Given the description of an element on the screen output the (x, y) to click on. 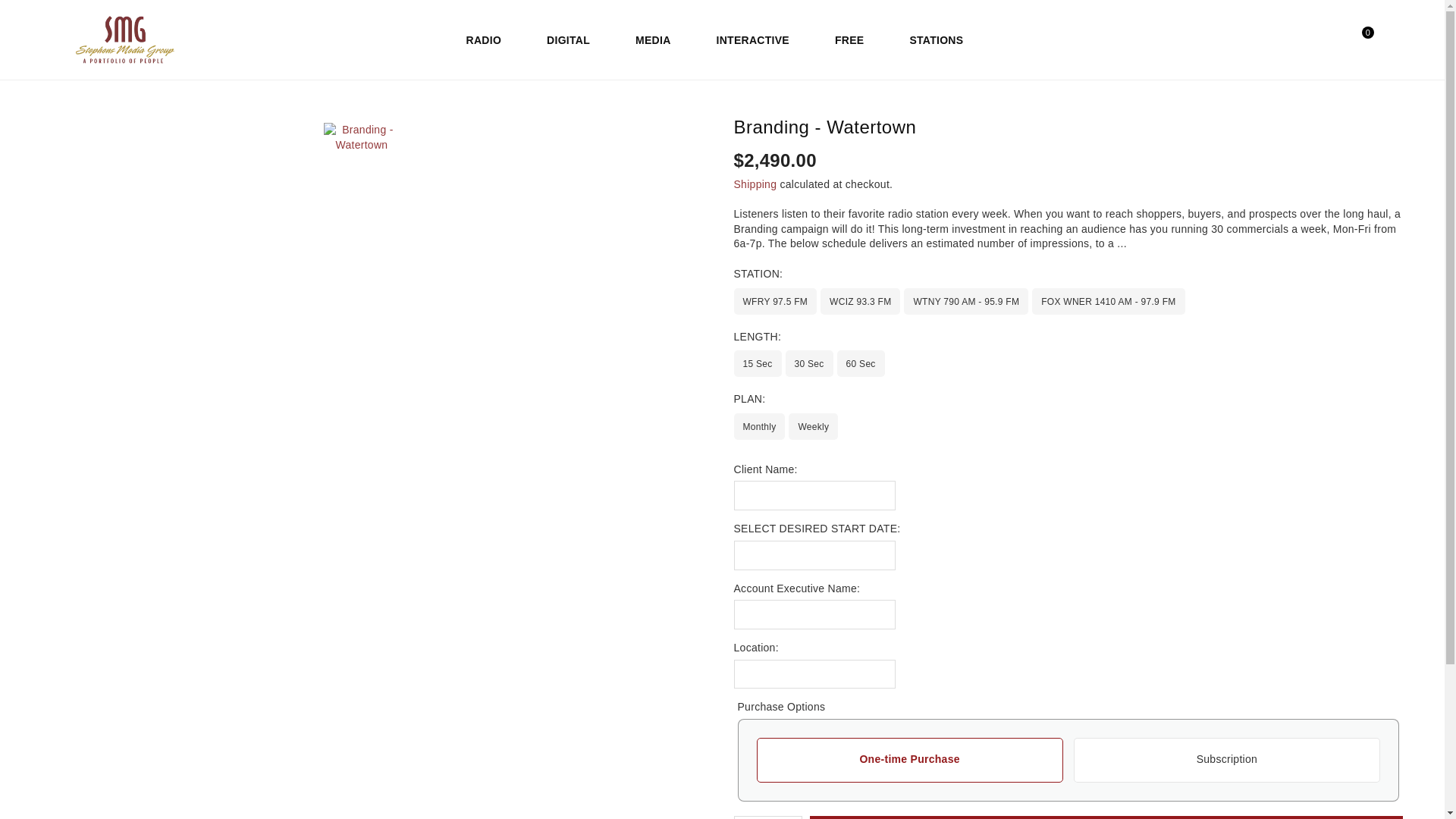
FREE (849, 39)
DIGITAL (568, 39)
SMG Exchange (140, 39)
MEDIA (652, 39)
RADIO (483, 39)
INTERACTIVE (753, 39)
1 (765, 817)
STATIONS (935, 39)
Quantity (767, 817)
